Given the description of an element on the screen output the (x, y) to click on. 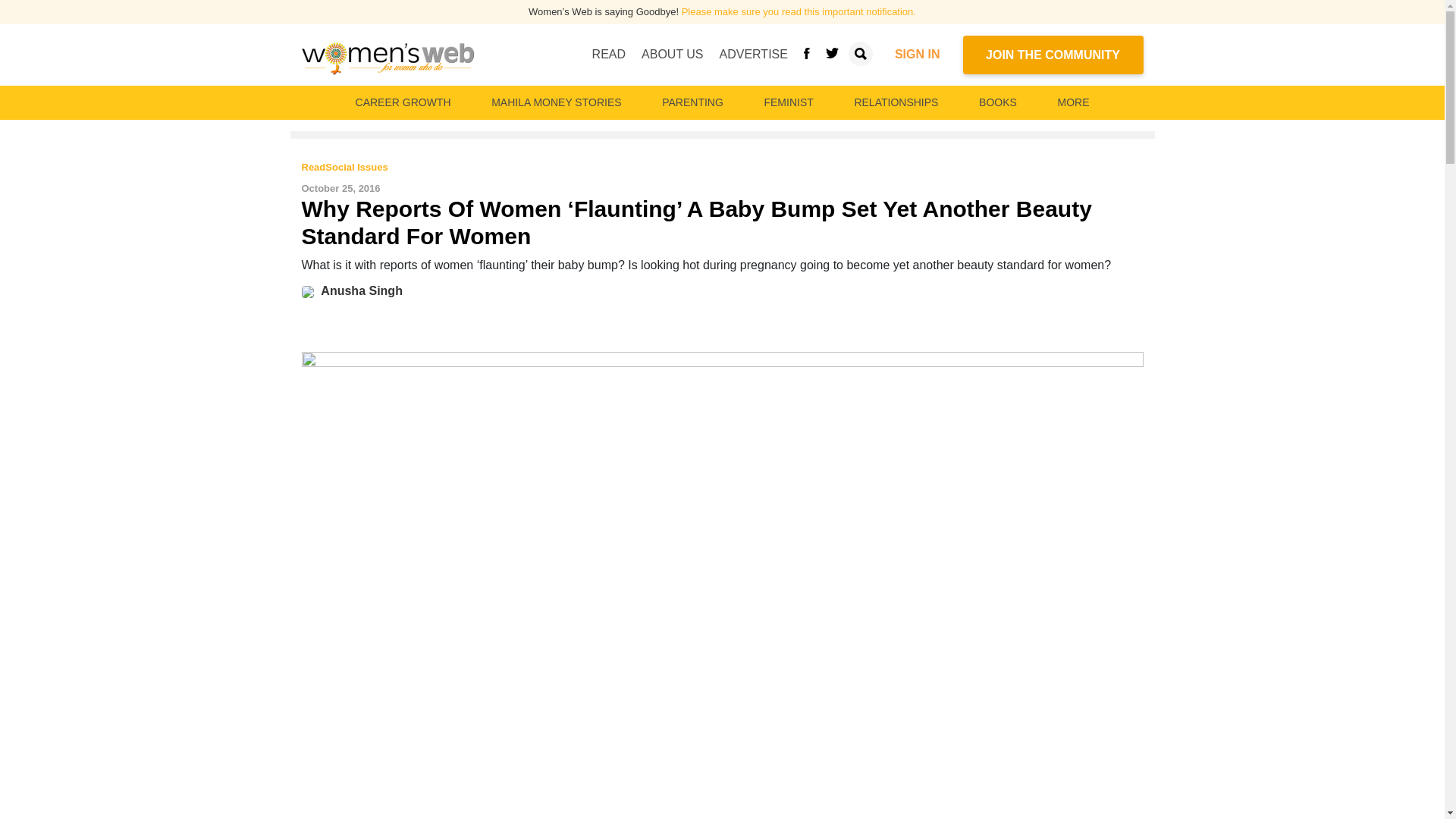
ABOUT US (672, 54)
BOOKS (998, 102)
MAHILA MONEY STORIES (555, 102)
READ (608, 54)
RELATIONSHIPS (894, 102)
Anusha Singh (311, 290)
Anusha Singh (361, 290)
CAREER GROWTH (402, 102)
MORE (1072, 102)
Please make sure you read this important notification. (798, 11)
